Given the description of an element on the screen output the (x, y) to click on. 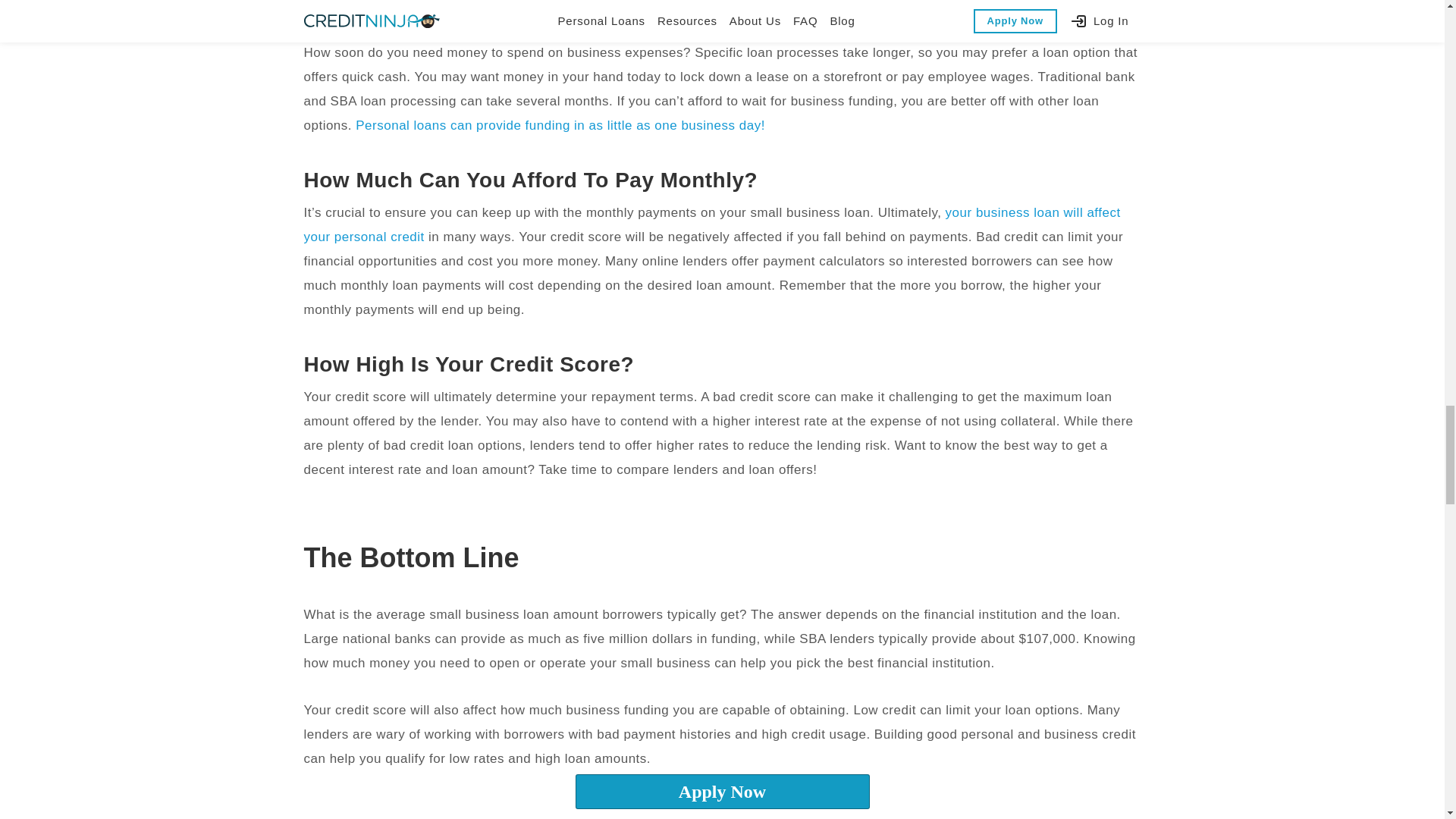
your business loan will affect your personal credit (710, 224)
